Given the description of an element on the screen output the (x, y) to click on. 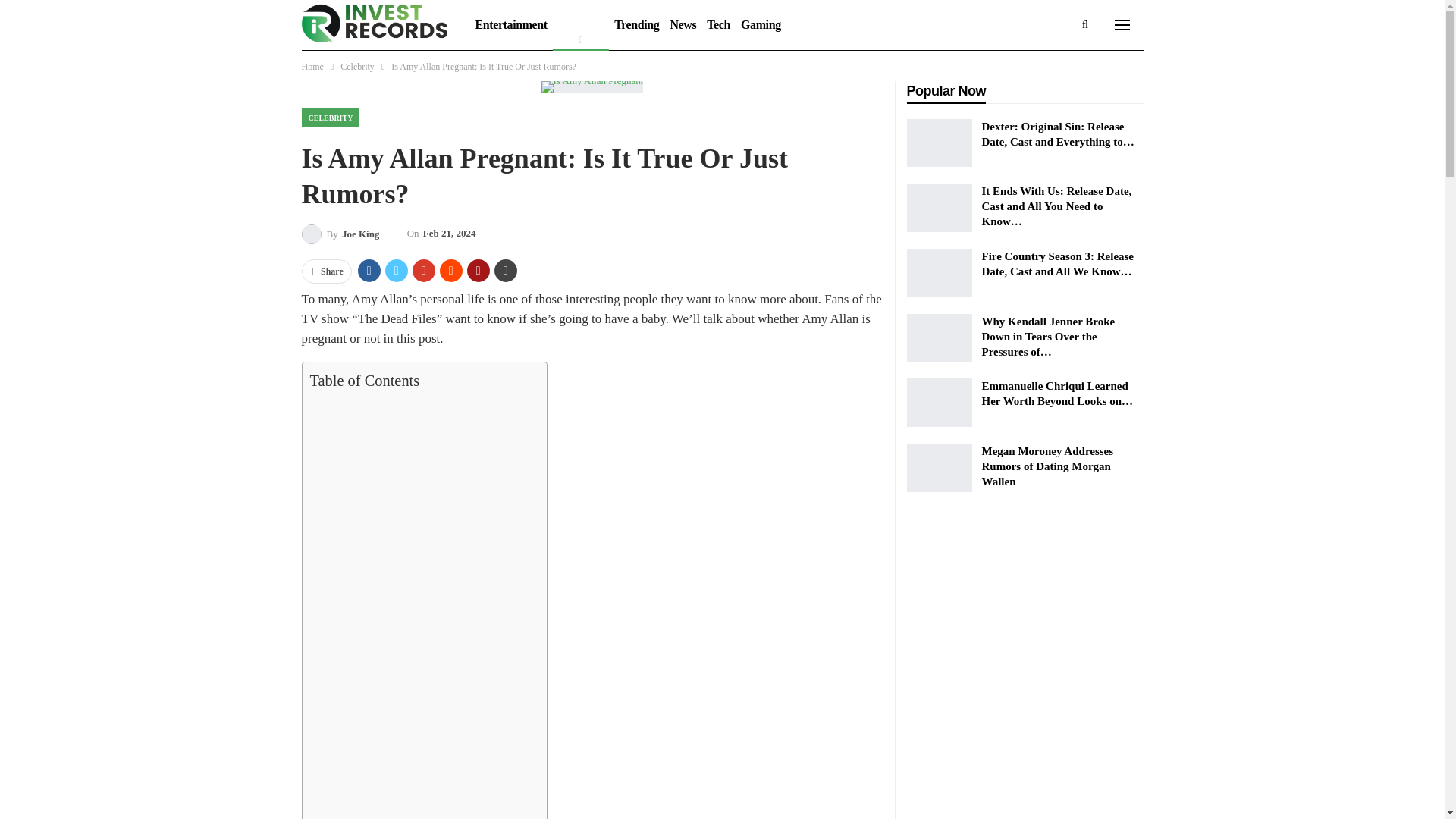
Trending (635, 24)
Entertainment (511, 24)
Gaming (760, 24)
Celebrity (580, 24)
Home (312, 66)
By Joe King (340, 233)
Browse Author Articles (340, 233)
CELEBRITY (330, 117)
Celebrity (357, 66)
